Given the description of an element on the screen output the (x, y) to click on. 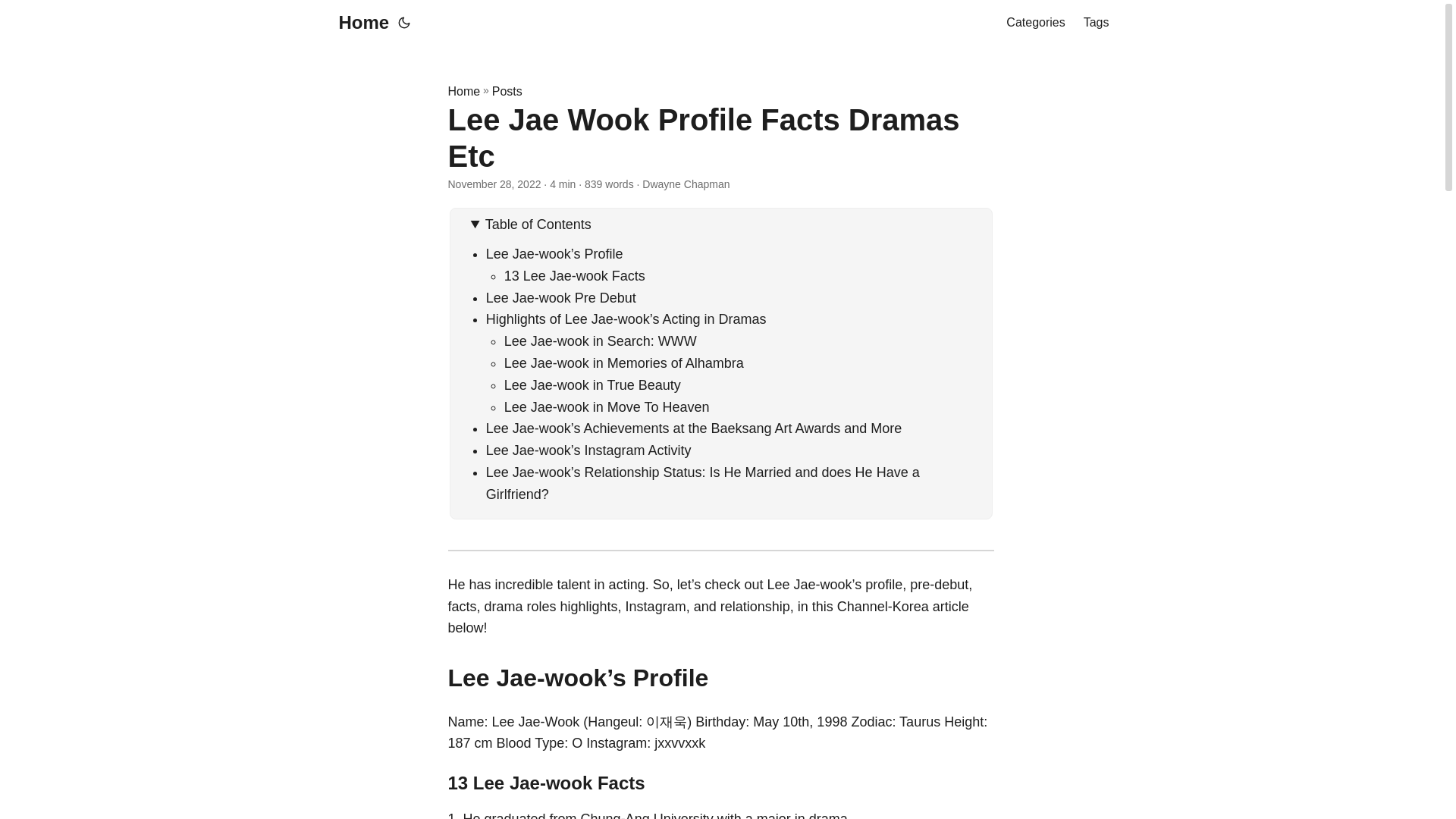
Home (359, 22)
Lee Jae-wook in Move To Heaven (606, 406)
Lee Jae-wook in True Beauty (592, 385)
Lee Jae-wook in Memories of Alhambra (623, 363)
Categories (1035, 22)
Lee Jae-wook in Search: WWW (600, 340)
Posts (507, 91)
Lee Jae-wook Pre Debut (561, 297)
13 Lee Jae-wook Facts (574, 275)
Home (463, 91)
Categories (1035, 22)
